Given the description of an element on the screen output the (x, y) to click on. 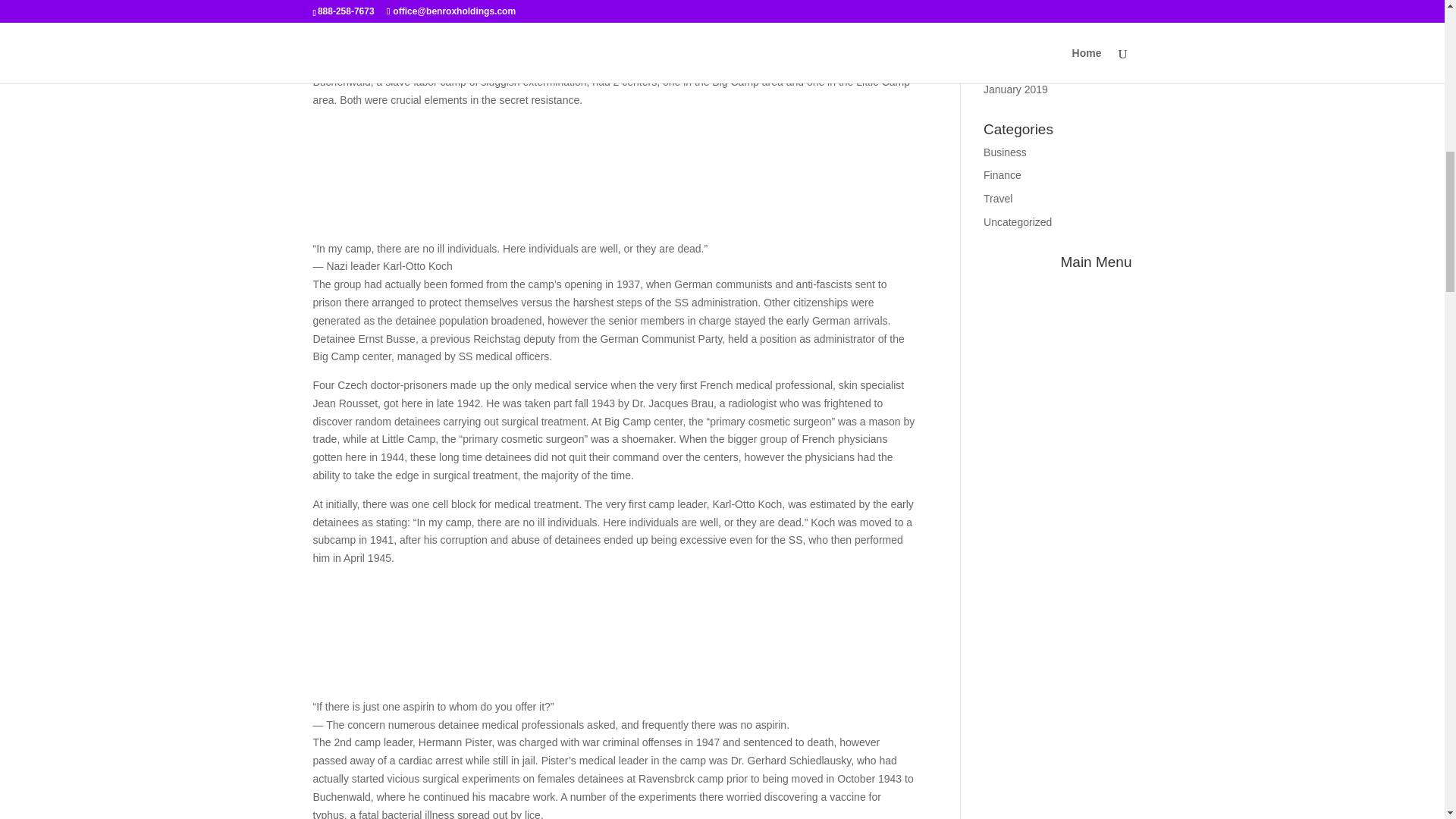
March 2019 (1011, 65)
April 2019 (1007, 42)
May 2019 (1006, 19)
Finance (1003, 174)
Travel (997, 198)
January 2019 (1016, 89)
Business (1005, 151)
Uncategorized (1017, 222)
June 2019 (1008, 1)
